Given the description of an element on the screen output the (x, y) to click on. 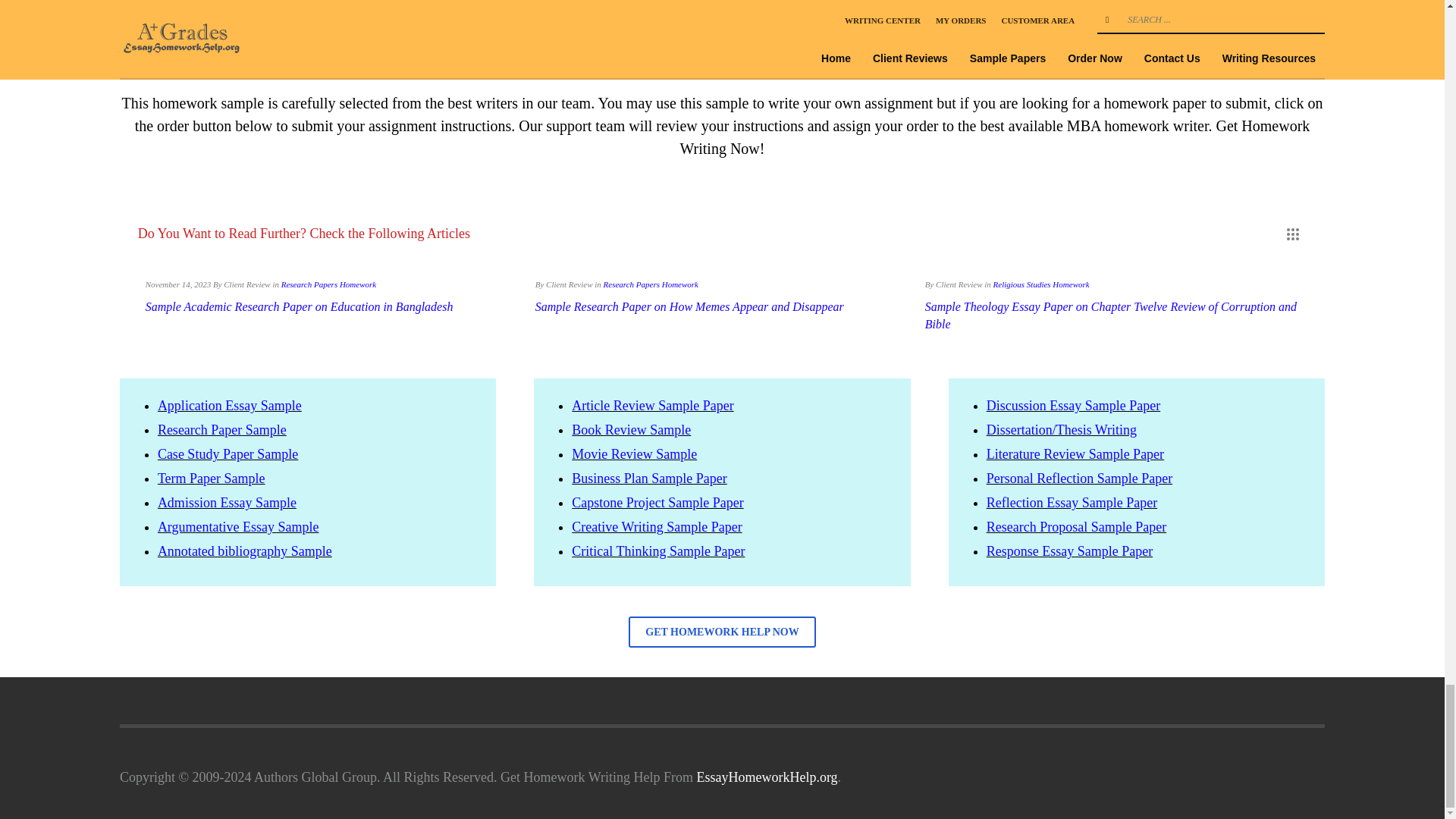
View all posts in Research Papers Homework (328, 284)
Admission Essay Sample (227, 502)
Religious Studies Homework (1040, 284)
Research Papers Homework (328, 284)
Application Essay Sample (229, 405)
Research Paper Sample (221, 429)
Sample Academic Research Paper on Education in Bangladesh (298, 306)
Argumentative Essay Sample (237, 526)
Movie Review Sample (634, 453)
